Given the description of an element on the screen output the (x, y) to click on. 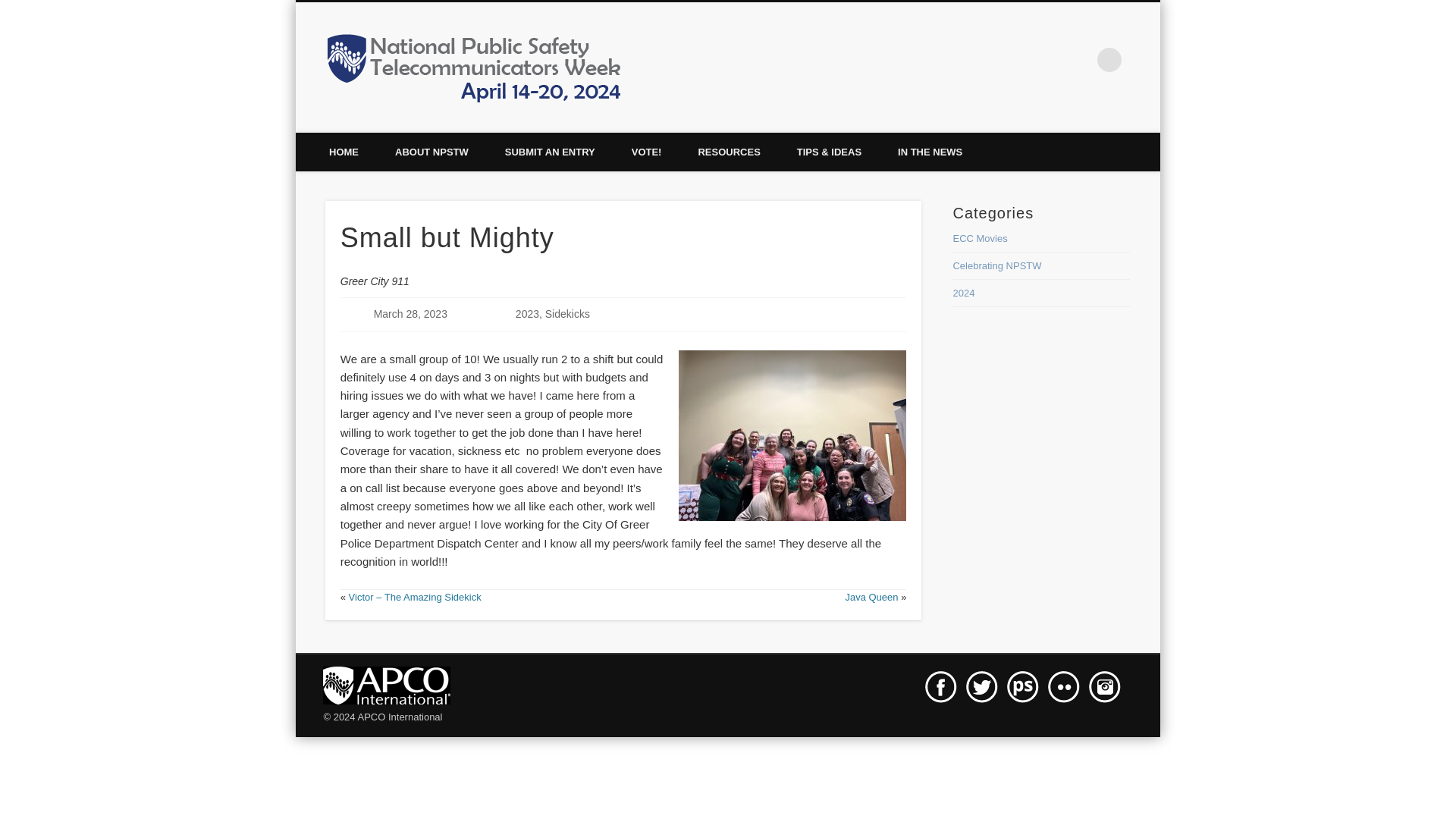
HOME (344, 151)
ABOUT NPSTW (431, 151)
SUBMIT AN ENTRY (549, 151)
2024 (963, 292)
2023 (526, 313)
Search (11, 7)
RESOURCES (728, 151)
Java Queen (871, 596)
Celebrating NPSTW (996, 265)
ECC Movies (979, 238)
VOTE! (645, 151)
Sidekicks (566, 313)
IN THE NEWS (929, 151)
